Given the description of an element on the screen output the (x, y) to click on. 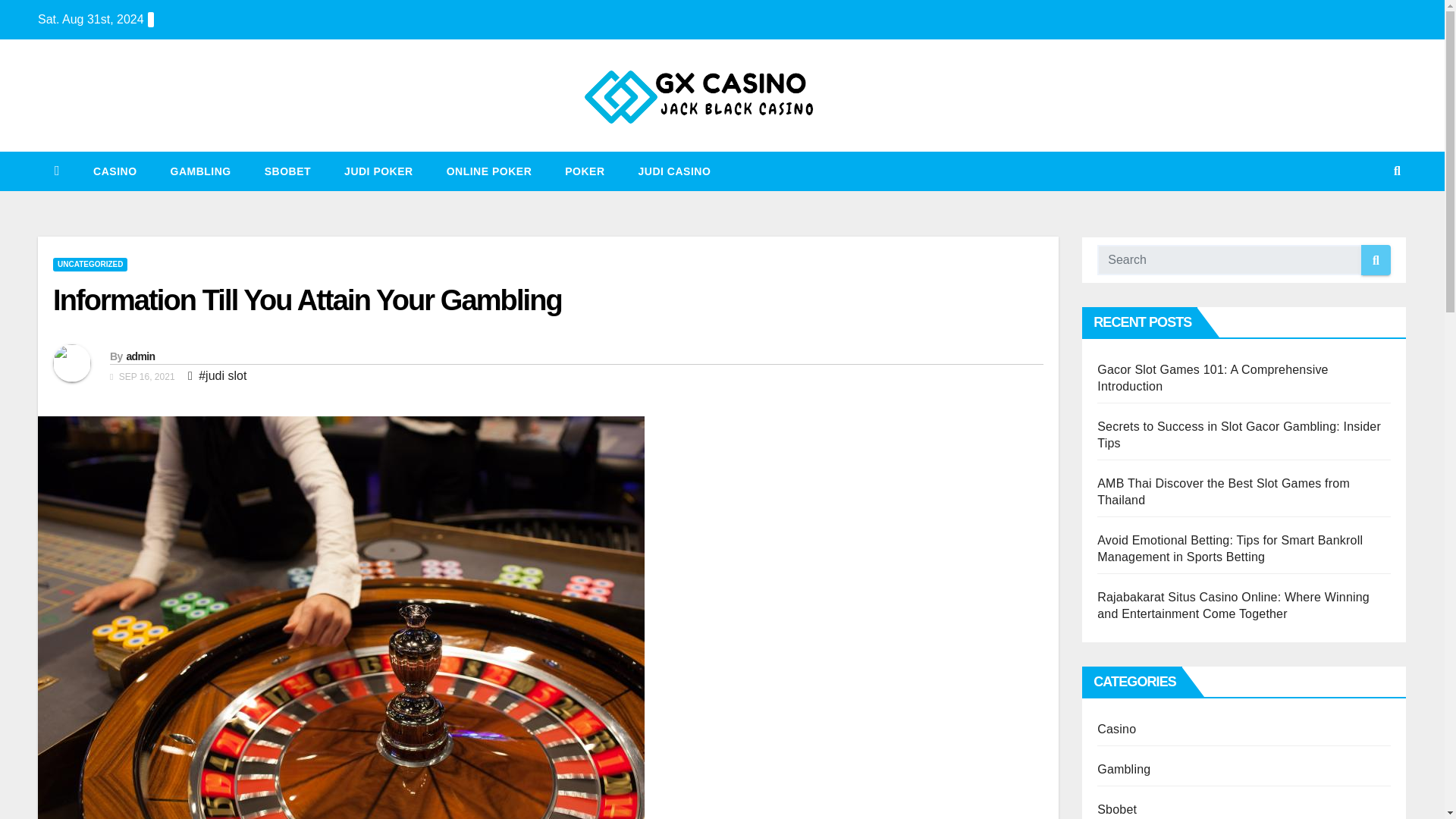
POKER (584, 170)
ONLINE POKER (488, 170)
Online Poker (488, 170)
JUDI CASINO (674, 170)
Judi Poker (378, 170)
Gambling (200, 170)
JUDI POKER (378, 170)
GAMBLING (200, 170)
Sbobet (287, 170)
Poker (584, 170)
